Given the description of an element on the screen output the (x, y) to click on. 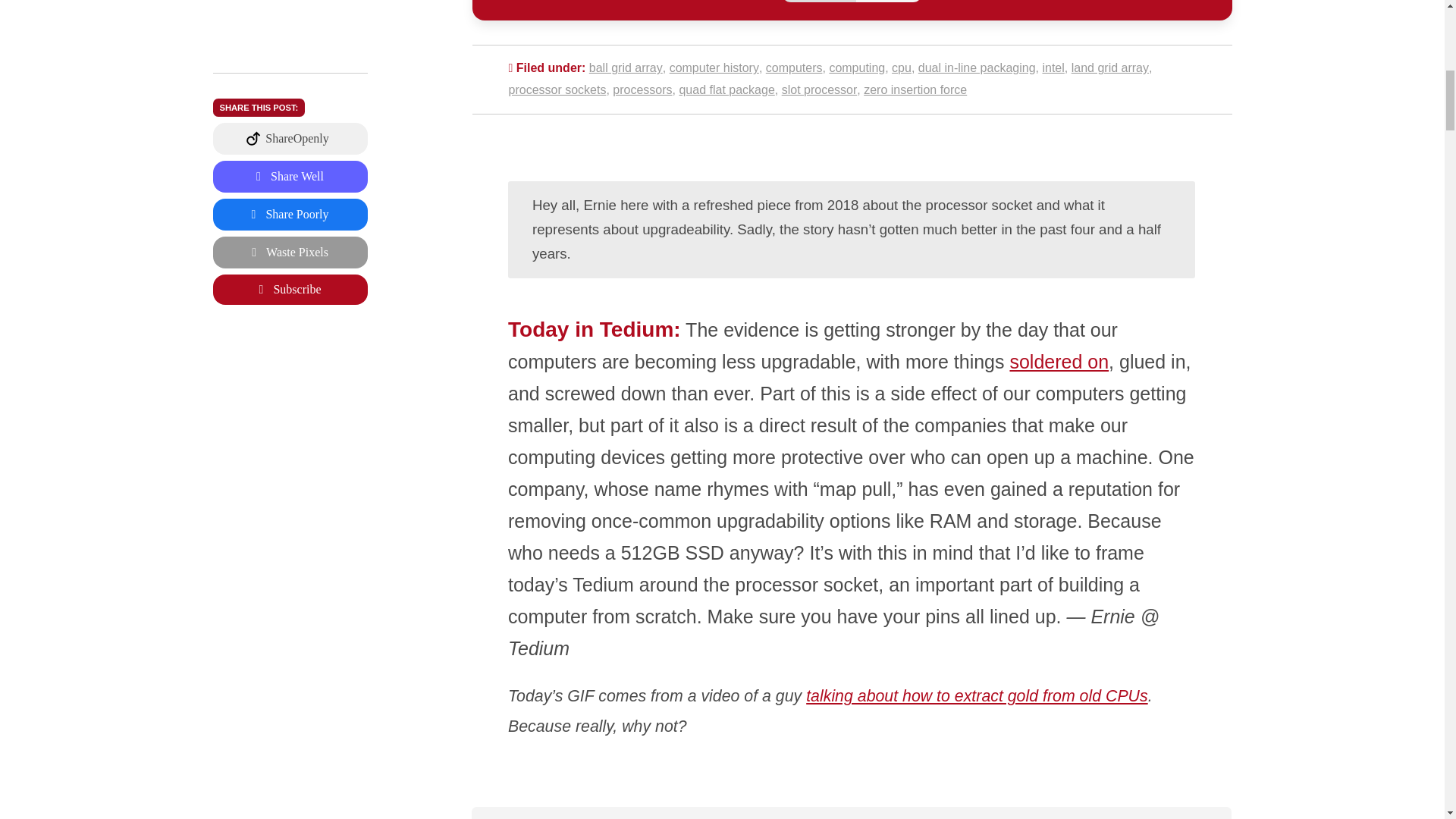
dual in-line packaging (976, 67)
cpu (901, 67)
computers (793, 67)
Subscribe (289, 89)
computer history (713, 67)
quad flat package (726, 89)
land grid array (1109, 67)
slot processor (819, 89)
computing (856, 67)
processor sockets (556, 89)
